Given the description of an element on the screen output the (x, y) to click on. 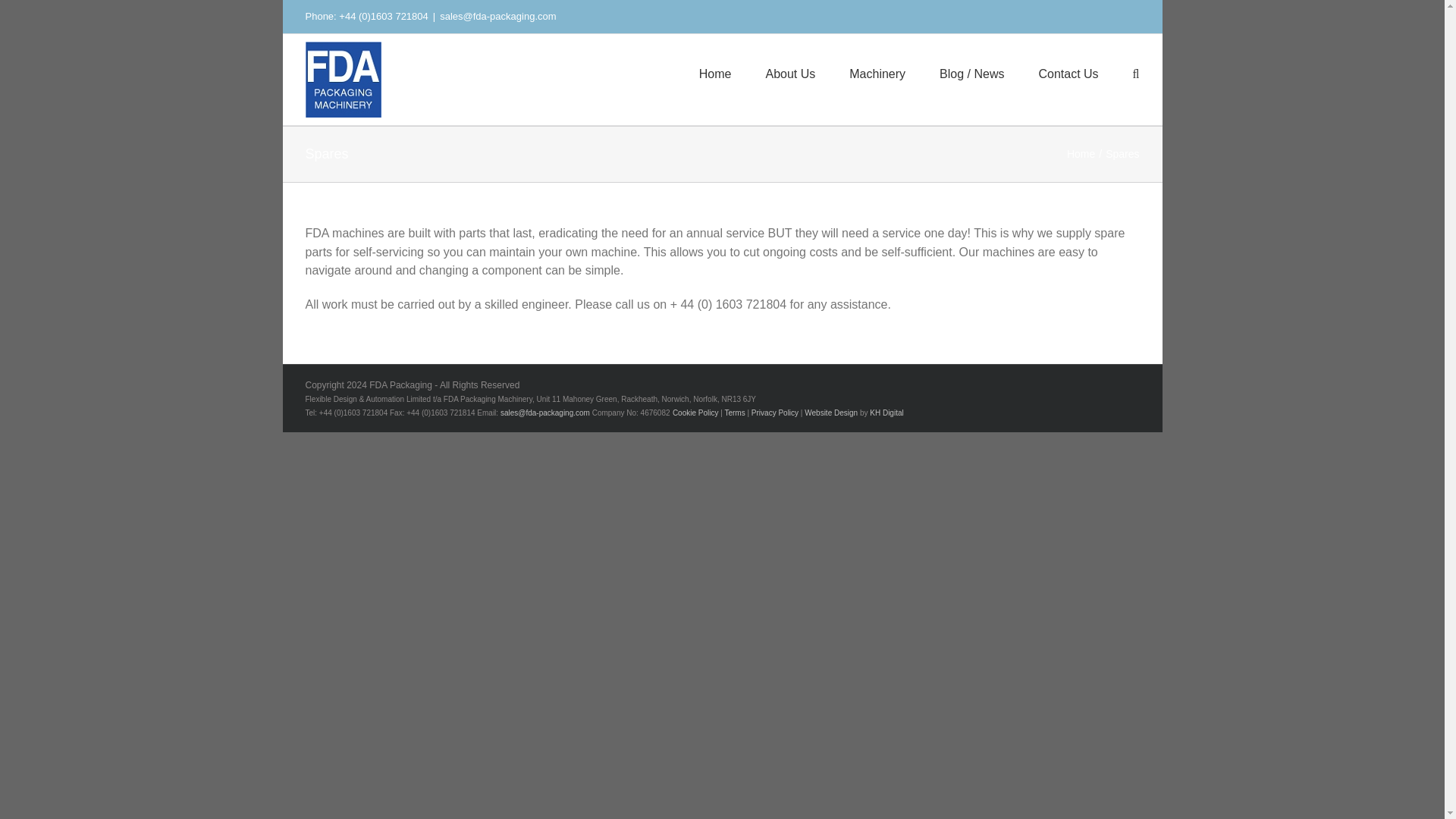
Website Design (831, 412)
Terms (733, 412)
Cookie Policy (695, 412)
Digital Agency Norwich (885, 412)
Home (1080, 153)
Privacy Policy (774, 412)
Web Design Norwich (831, 412)
KH Digital (885, 412)
